Given the description of an element on the screen output the (x, y) to click on. 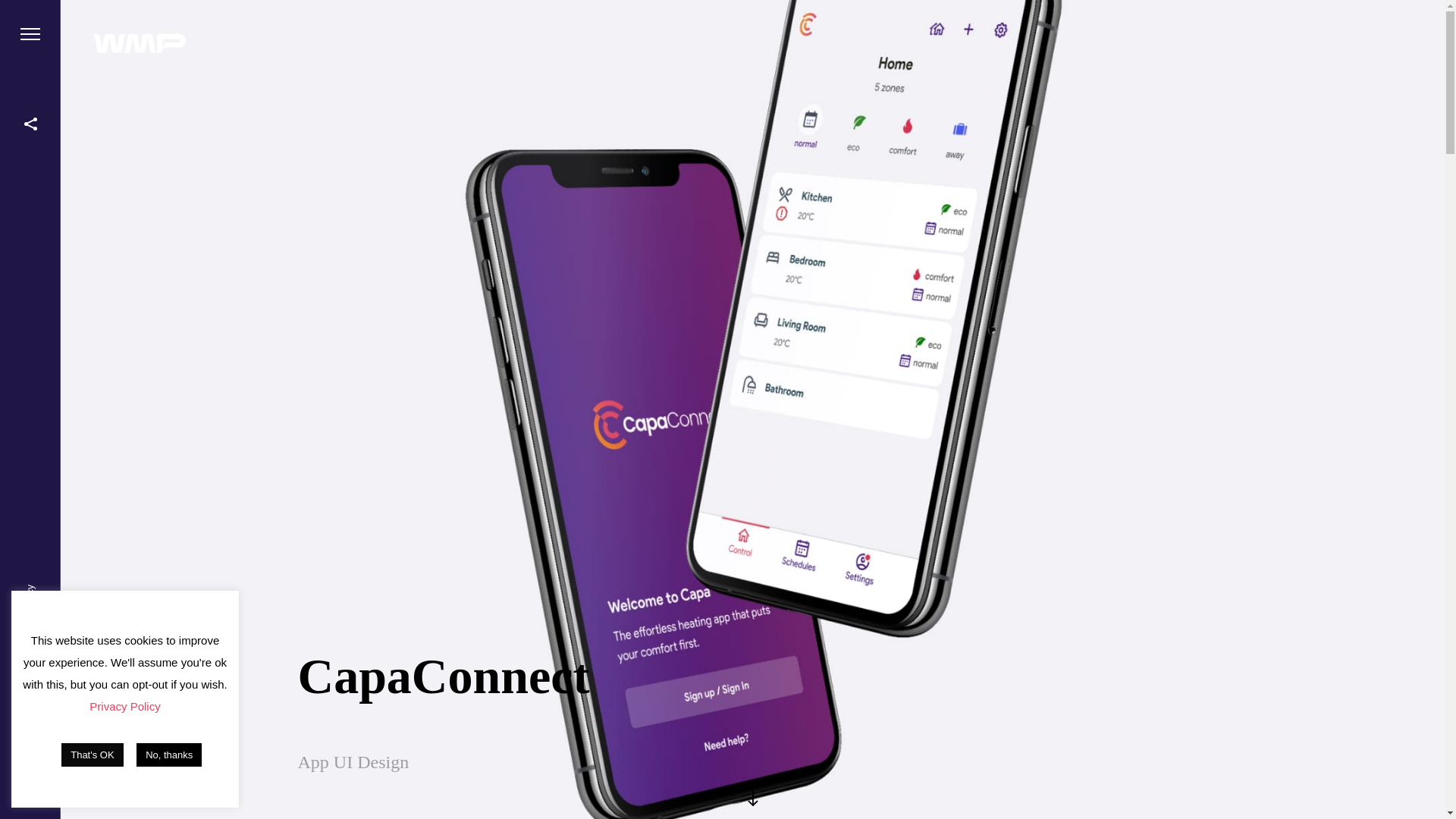
That's OK (91, 754)
Privacy Policy (54, 590)
Privacy Policy (124, 706)
WMP Creative (54, 729)
No, thanks (169, 754)
